Given the description of an element on the screen output the (x, y) to click on. 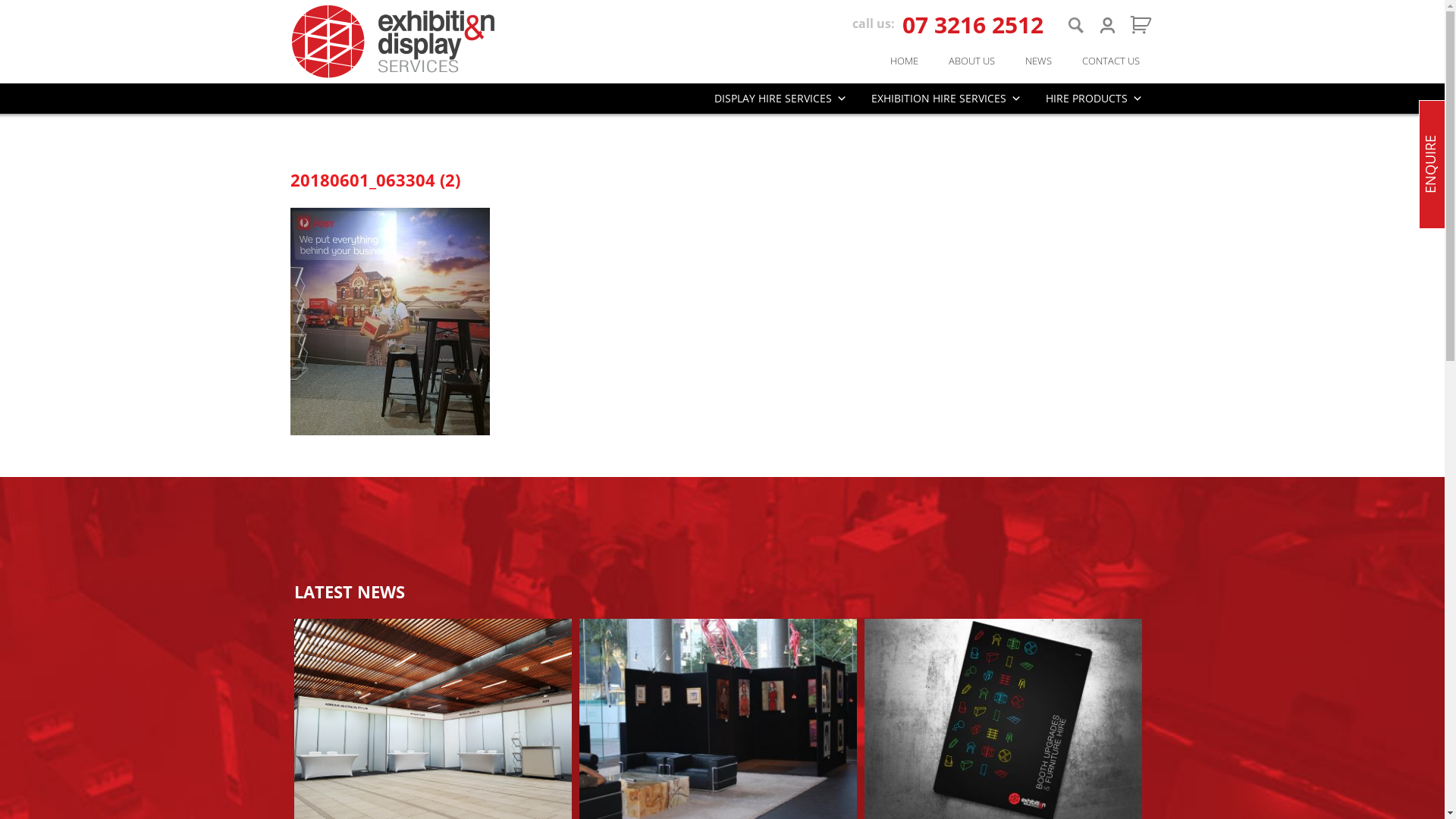
HOME Element type: text (904, 60)
07 3216 2512 Element type: text (972, 24)
HIRE PRODUCTS Element type: text (1093, 98)
CONTACT US Element type: text (1110, 60)
ABOUT US Element type: text (970, 60)
View your shopping cart Element type: hover (1136, 24)
EXHIBITION HIRE SERVICES Element type: text (945, 98)
DISPLAY HIRE SERVICES Element type: text (780, 98)
NEWS Element type: text (1038, 60)
